Given the description of an element on the screen output the (x, y) to click on. 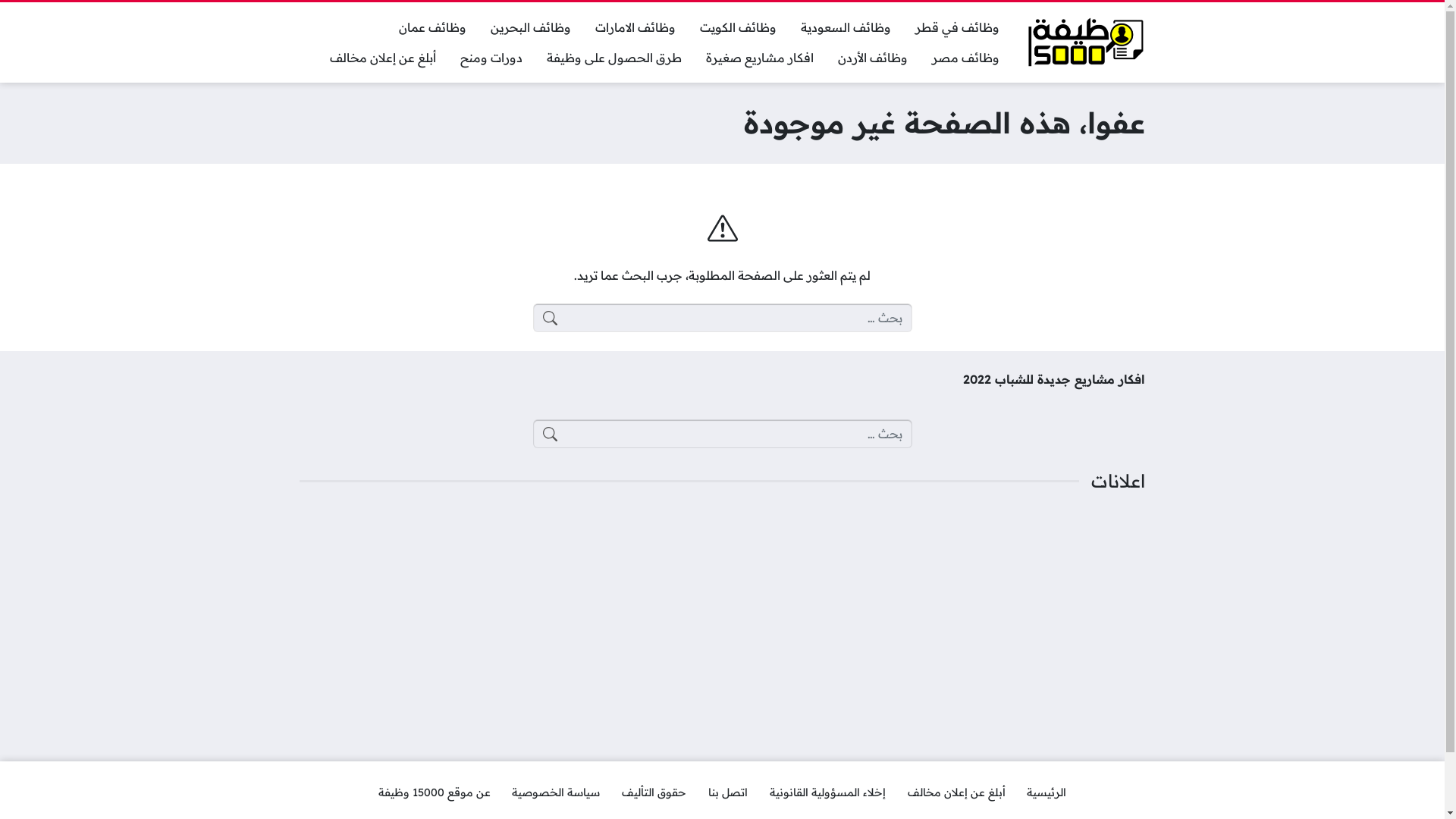
Advertisement Element type: hover (722, 619)
